Given the description of an element on the screen output the (x, y) to click on. 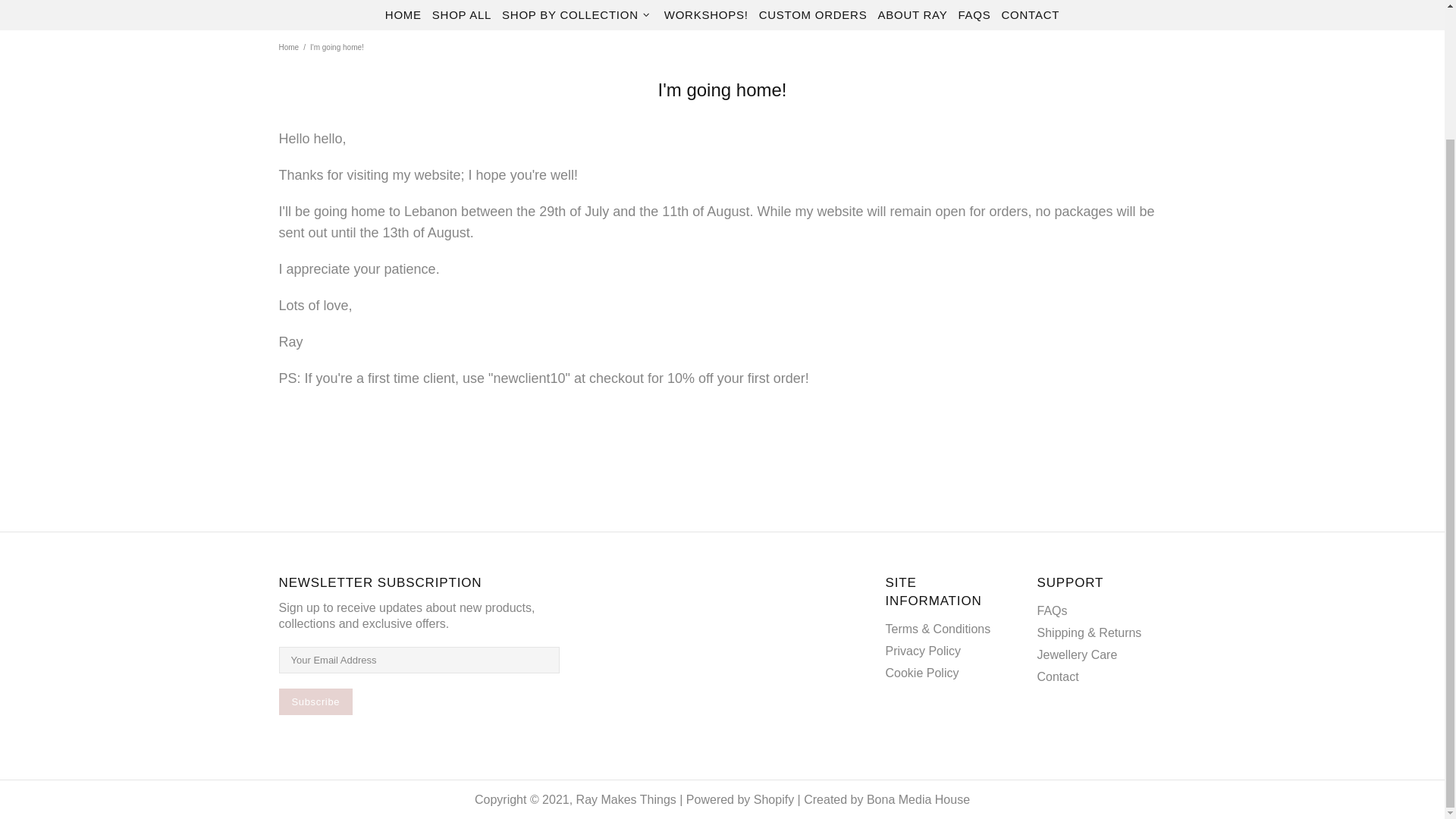
Subscribe (316, 701)
SHOP BY COLLECTION (577, 15)
SHOP ALL (461, 15)
Jewellery Care (1077, 654)
Powered by Shopify (739, 799)
CONTACT (1030, 15)
ABOUT RAY (912, 15)
CUSTOM ORDERS (813, 15)
HOME (403, 15)
Bona Media House (917, 799)
Subscribe (316, 701)
Home (288, 47)
Cookie Policy (922, 672)
Contact (1057, 676)
FAQS (974, 15)
